Given the description of an element on the screen output the (x, y) to click on. 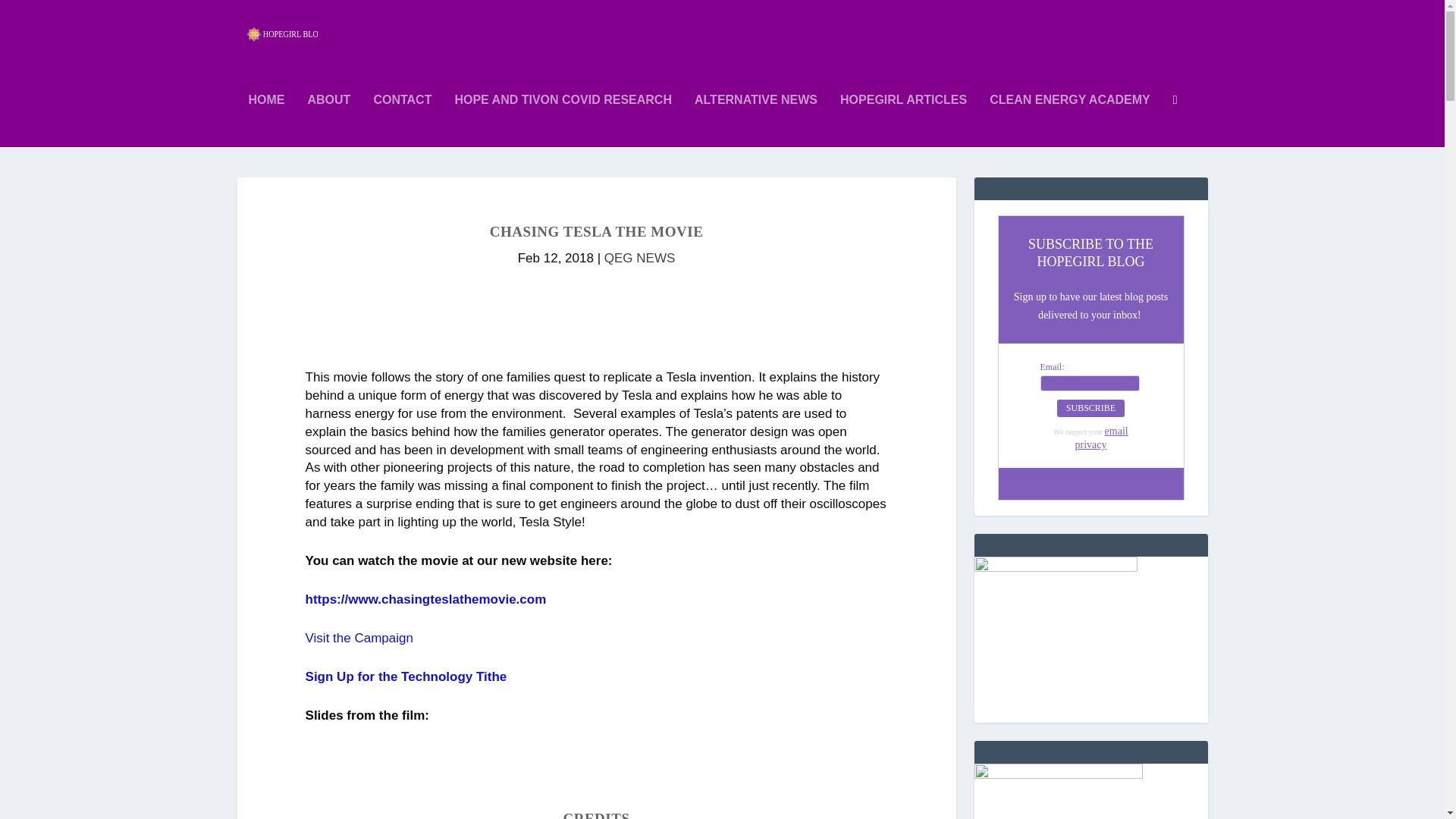
Privacy Policy (1101, 437)
CLEAN ENERGY ACADEMY (1070, 120)
HOPEGIRL ARTICLES (903, 120)
Visit the Campaign (359, 637)
email privacy (1101, 437)
CONTACT (401, 120)
HOPE AND TIVON COVID RESEARCH (562, 120)
SUBSCRIBE (1090, 407)
ALTERNATIVE NEWS (755, 120)
Sign Up for the Technology Tithe (405, 676)
